Given the description of an element on the screen output the (x, y) to click on. 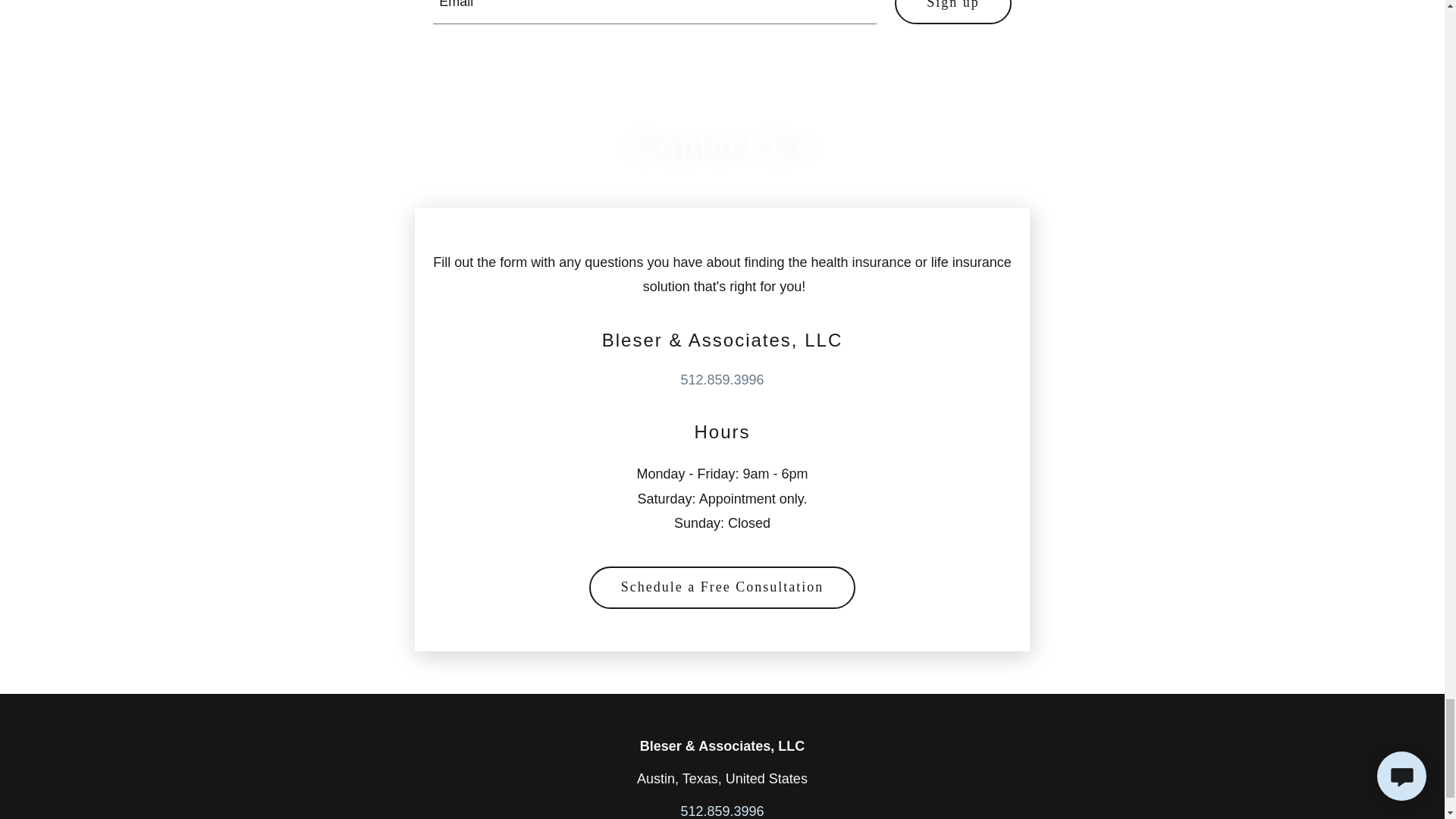
Sign up (953, 12)
512.859.3996 (720, 379)
